Given the description of an element on the screen output the (x, y) to click on. 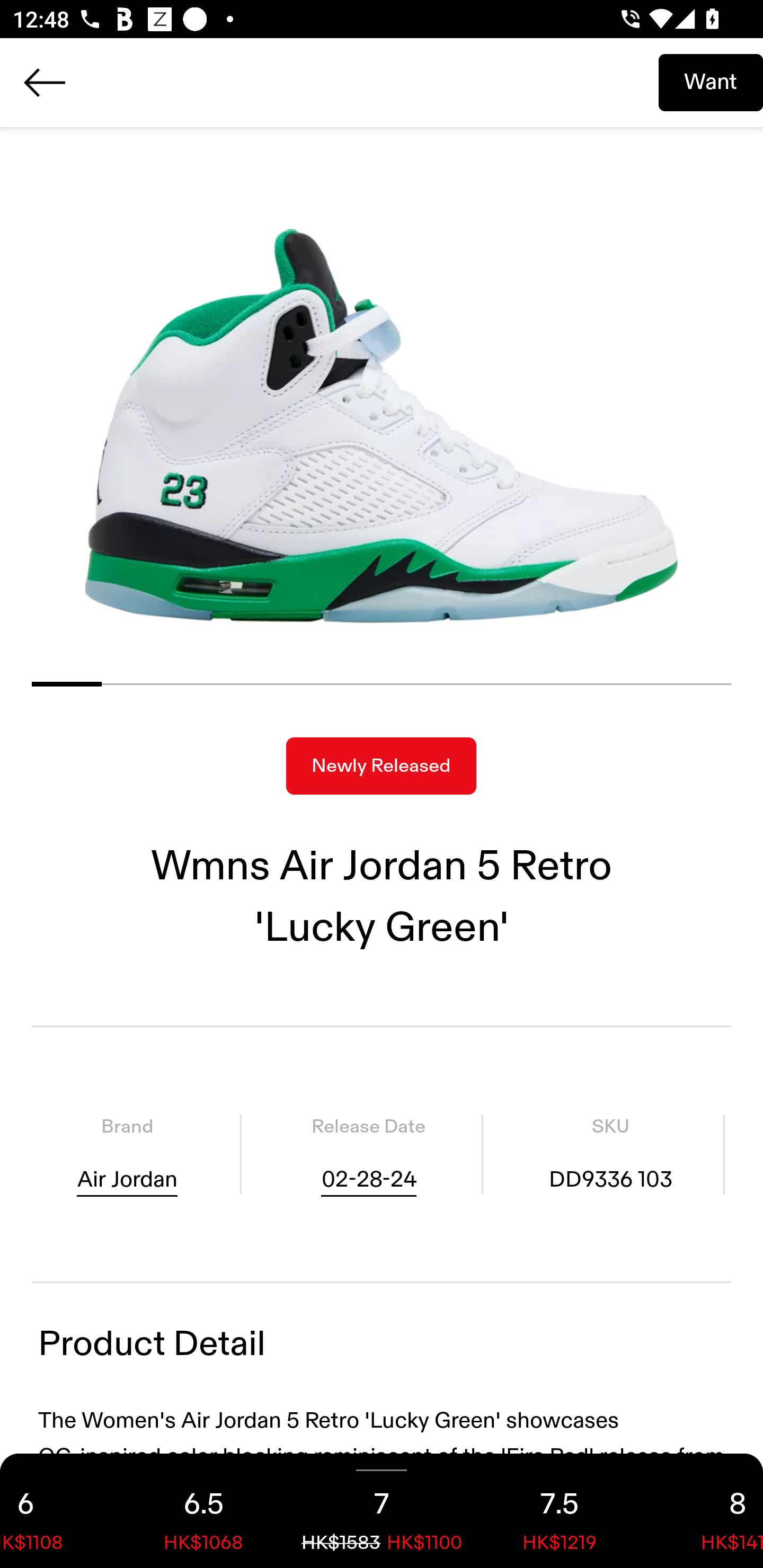
Want (710, 82)
Newly Released (381, 765)
Brand Air Jordan (126, 1153)
Release Date 02-28-24 (368, 1153)
SKU DD9336 103 (609, 1153)
6 HK$1108 (57, 1510)
6.5 HK$1068 (203, 1510)
7 HK$1583 HK$1100 (381, 1510)
7.5 HK$1219 (559, 1510)
8 HK$1417 (705, 1510)
